Given the description of an element on the screen output the (x, y) to click on. 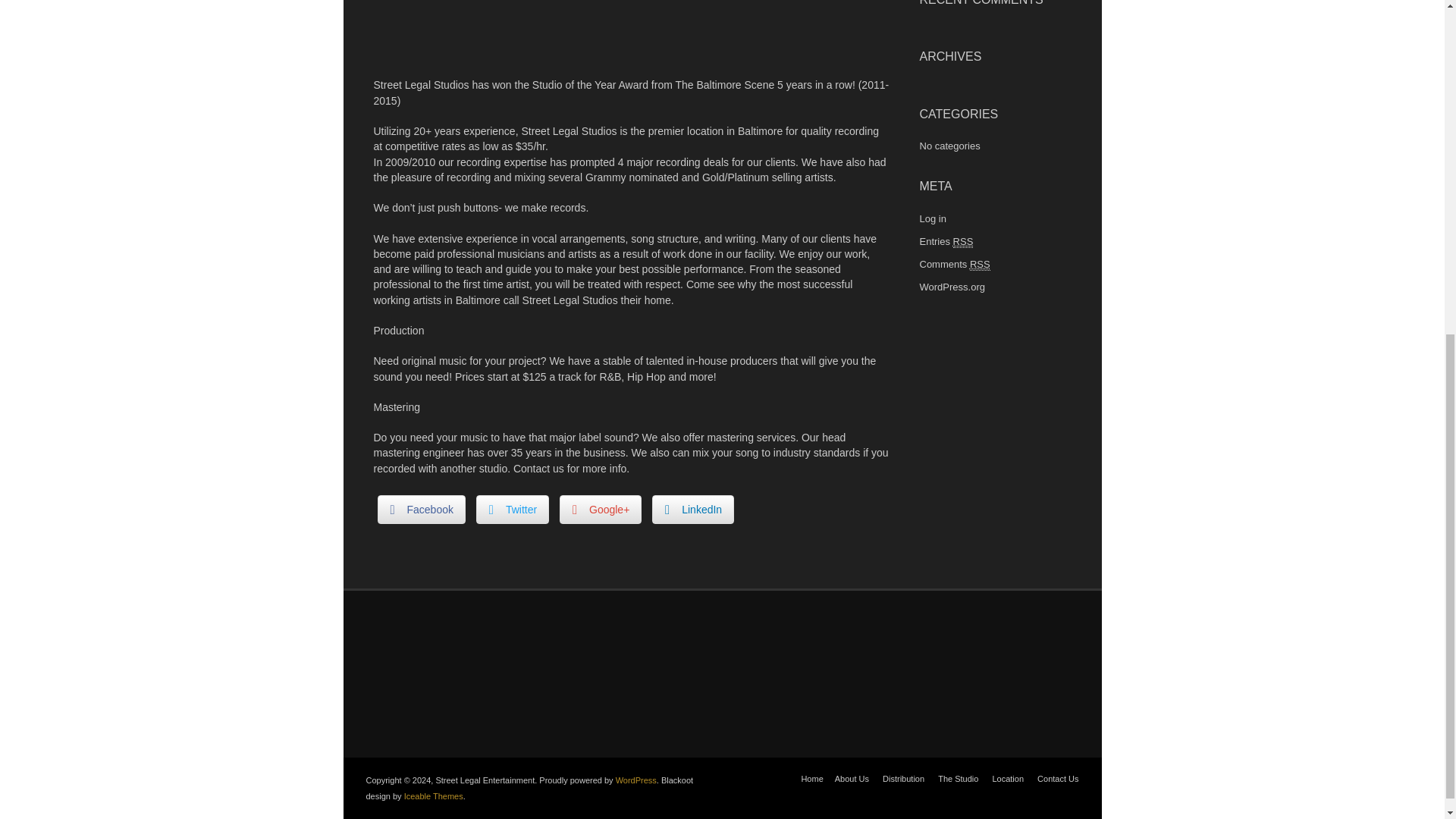
WordPress.org (951, 286)
Semantic Personal Publishing Platform (635, 779)
Facebook (421, 509)
Entries RSS (945, 241)
Home (811, 777)
Comments RSS (954, 264)
Really Simple Syndication (979, 264)
The Studio (957, 777)
Distribution (903, 777)
Free and Premium WordPress Themes (433, 795)
Twitter (512, 509)
LinkedIn (692, 509)
Location (1007, 777)
Iceable Themes (433, 795)
